Given the description of an element on the screen output the (x, y) to click on. 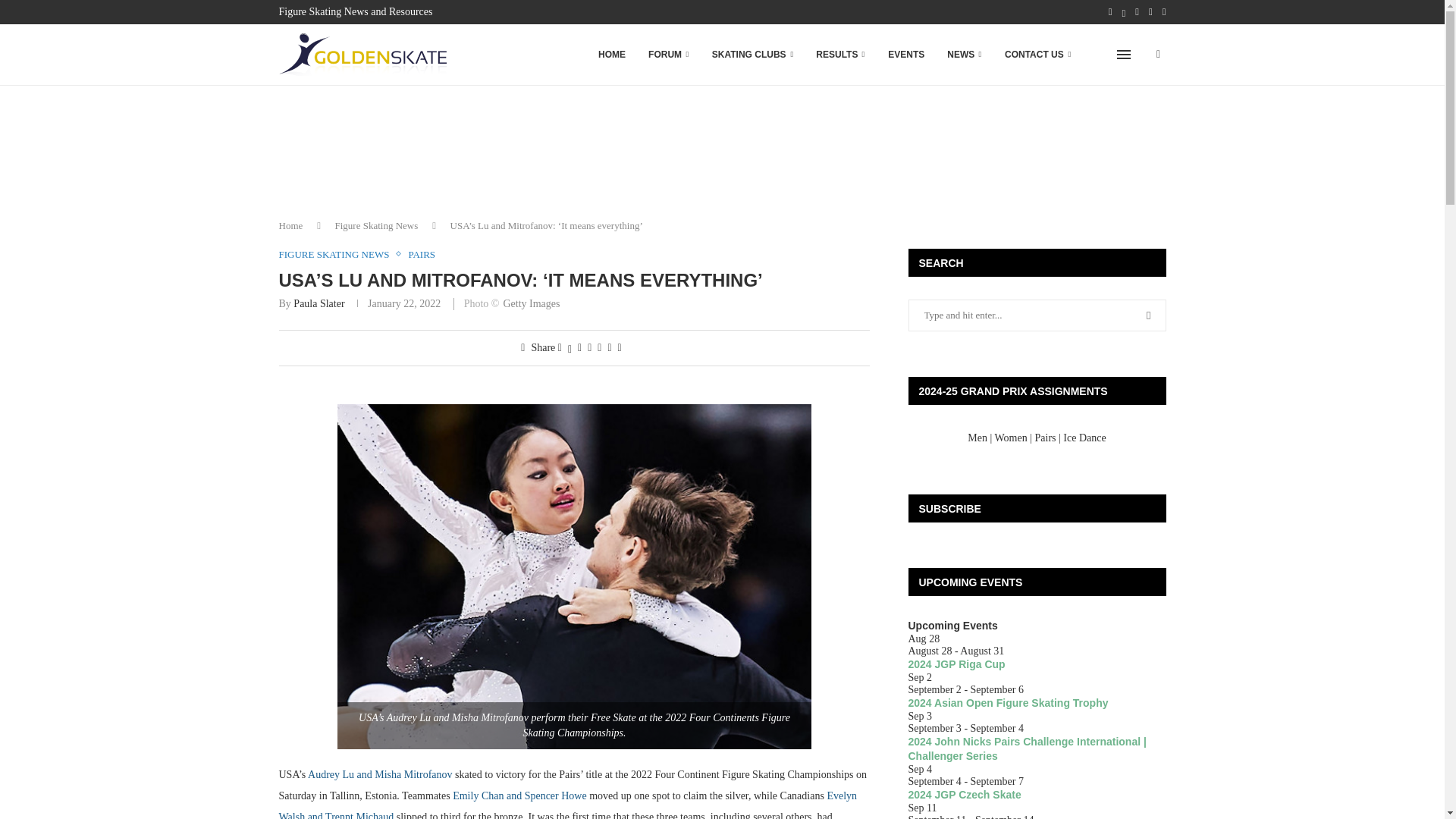
RESULTS (840, 54)
FORUM (668, 54)
SKATING CLUBS (752, 54)
